Given the description of an element on the screen output the (x, y) to click on. 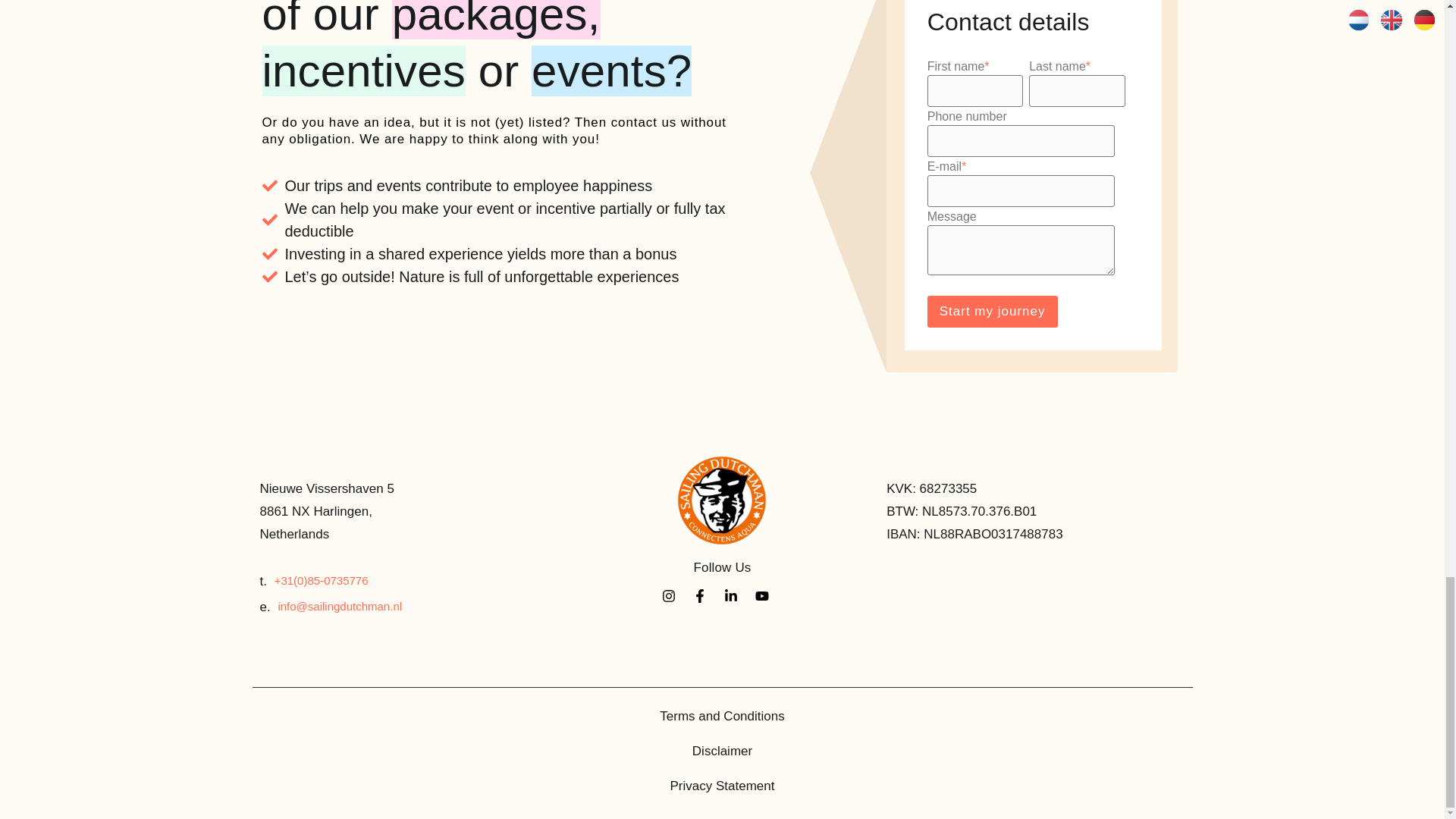
Disclaimer (721, 751)
Our trips and events contribute to employee happiness (527, 185)
Investing in a shared experience yields more than a bonus (527, 253)
Start my journey (992, 311)
Terms and Conditions (721, 716)
Privacy Statement (721, 786)
Start my journey (992, 311)
